Given the description of an element on the screen output the (x, y) to click on. 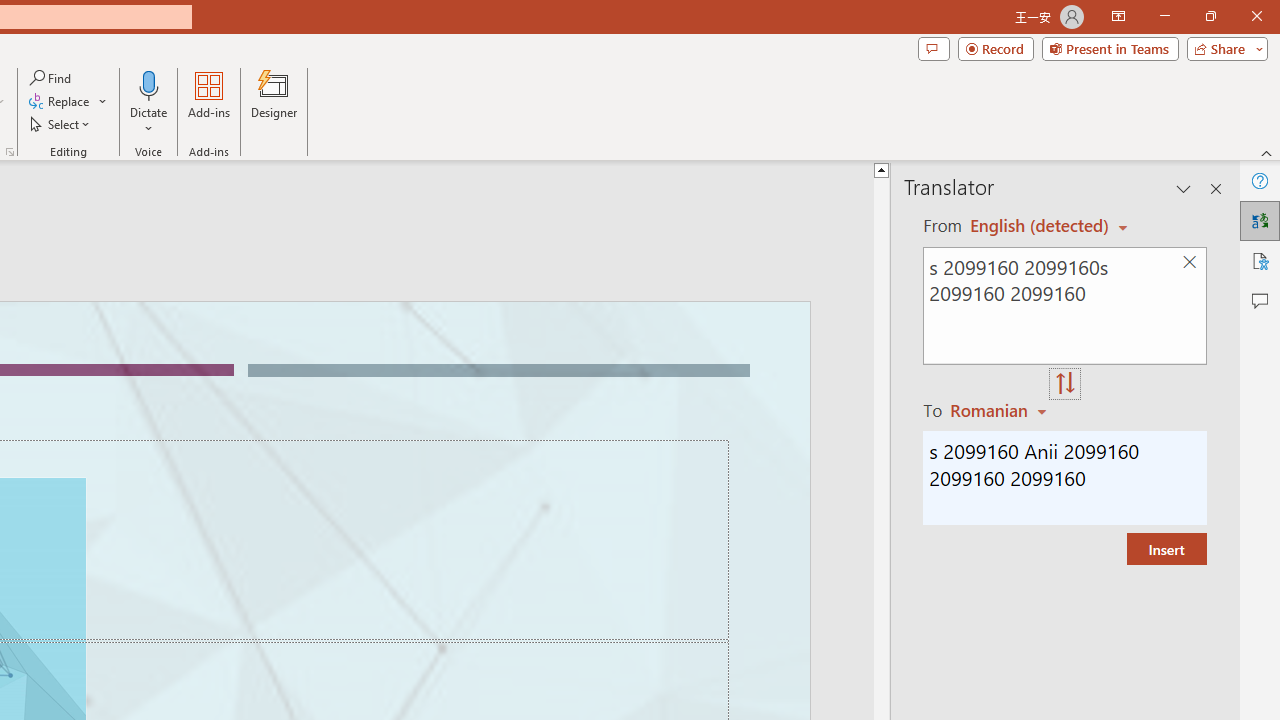
Czech (1001, 409)
